Given the description of an element on the screen output the (x, y) to click on. 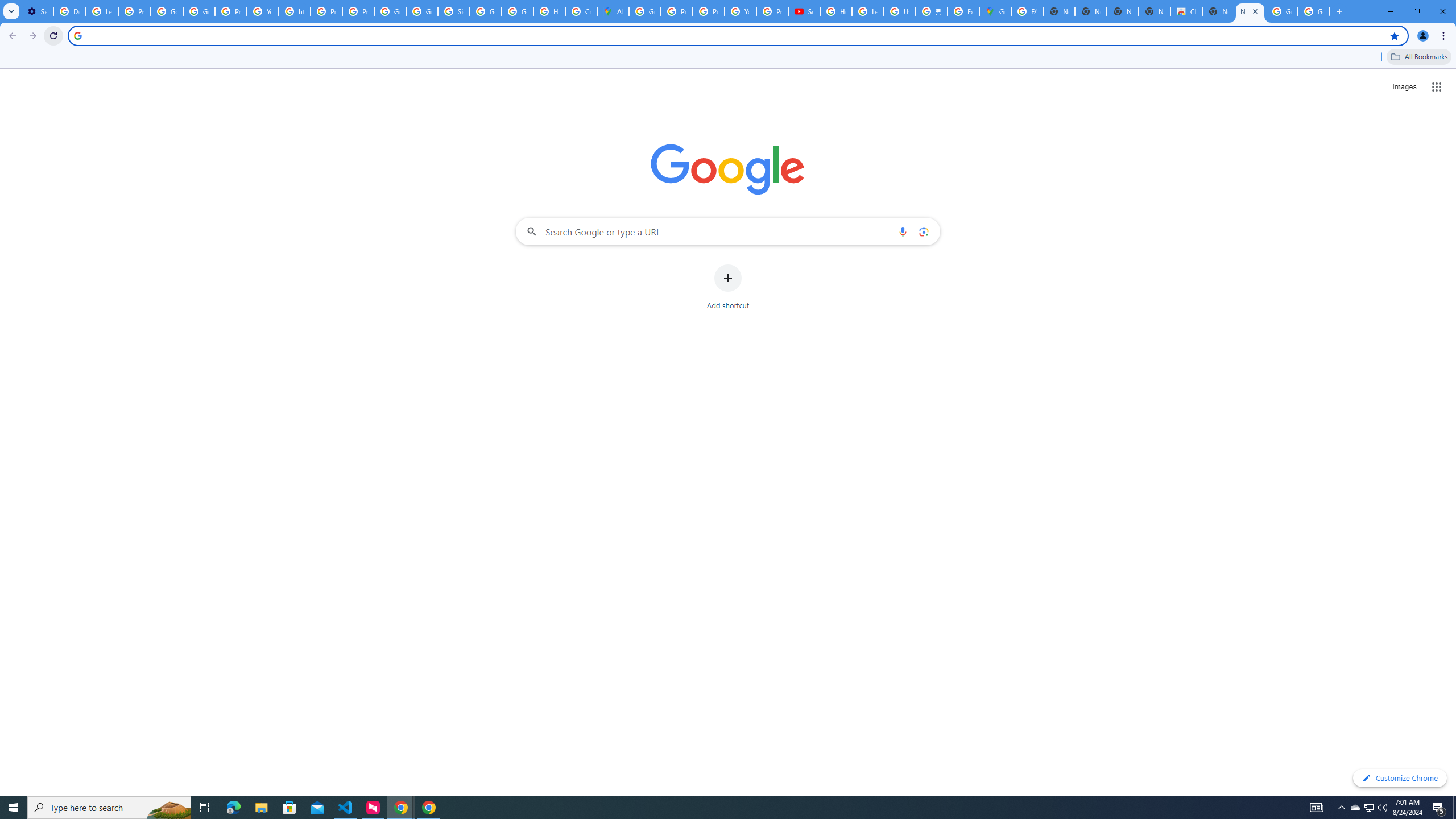
Sign in - Google Accounts (453, 11)
Settings - On startup (37, 11)
Google Maps (995, 11)
Bookmarks (728, 58)
Search Google or type a URL (727, 230)
Google Account Help (198, 11)
Explore new street-level details - Google Maps Help (963, 11)
Privacy Help Center - Policies Help (708, 11)
Search by image (922, 230)
Search icon (77, 35)
